Given the description of an element on the screen output the (x, y) to click on. 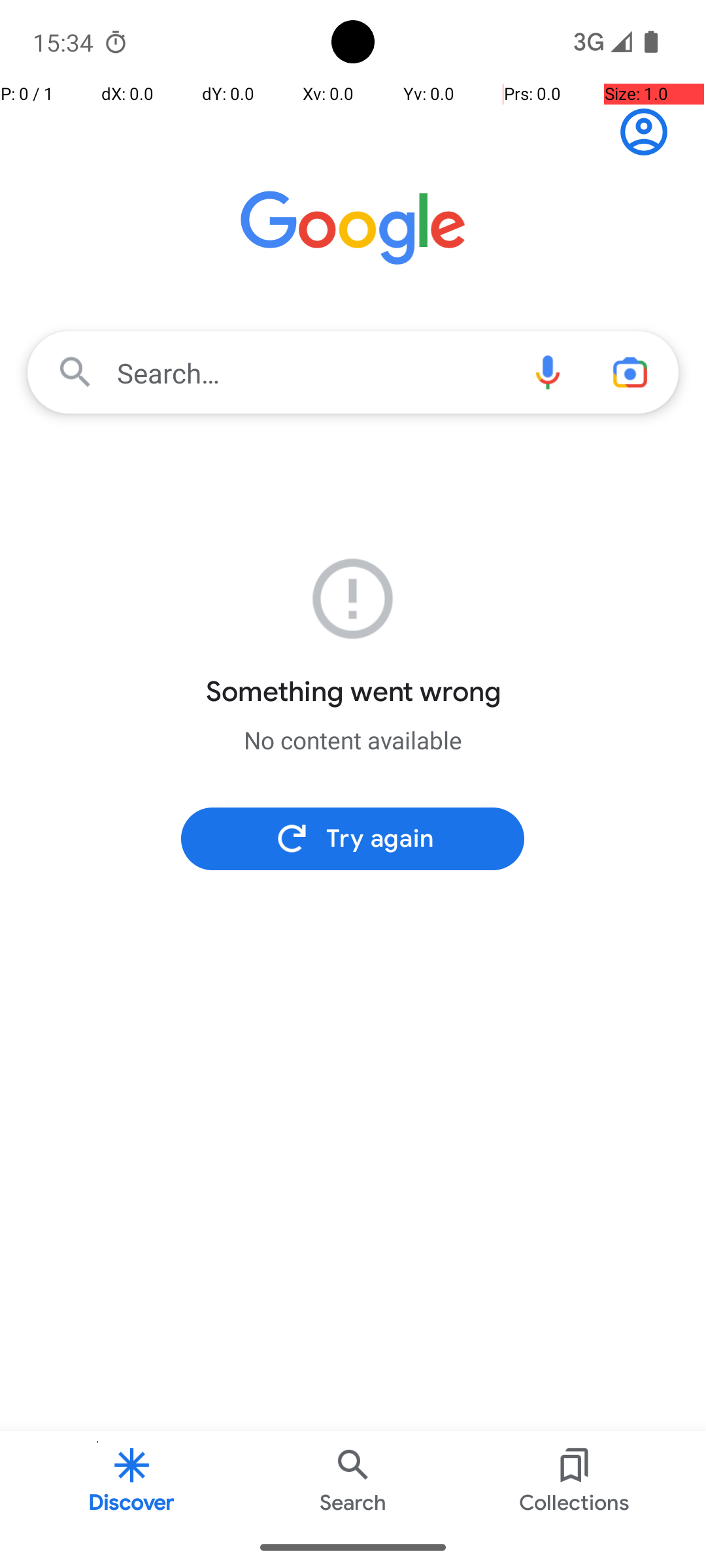
Something went wrong Element type: android.widget.TextView (352, 691)
No content available Element type: android.widget.TextView (352, 739)
